Given the description of an element on the screen output the (x, y) to click on. 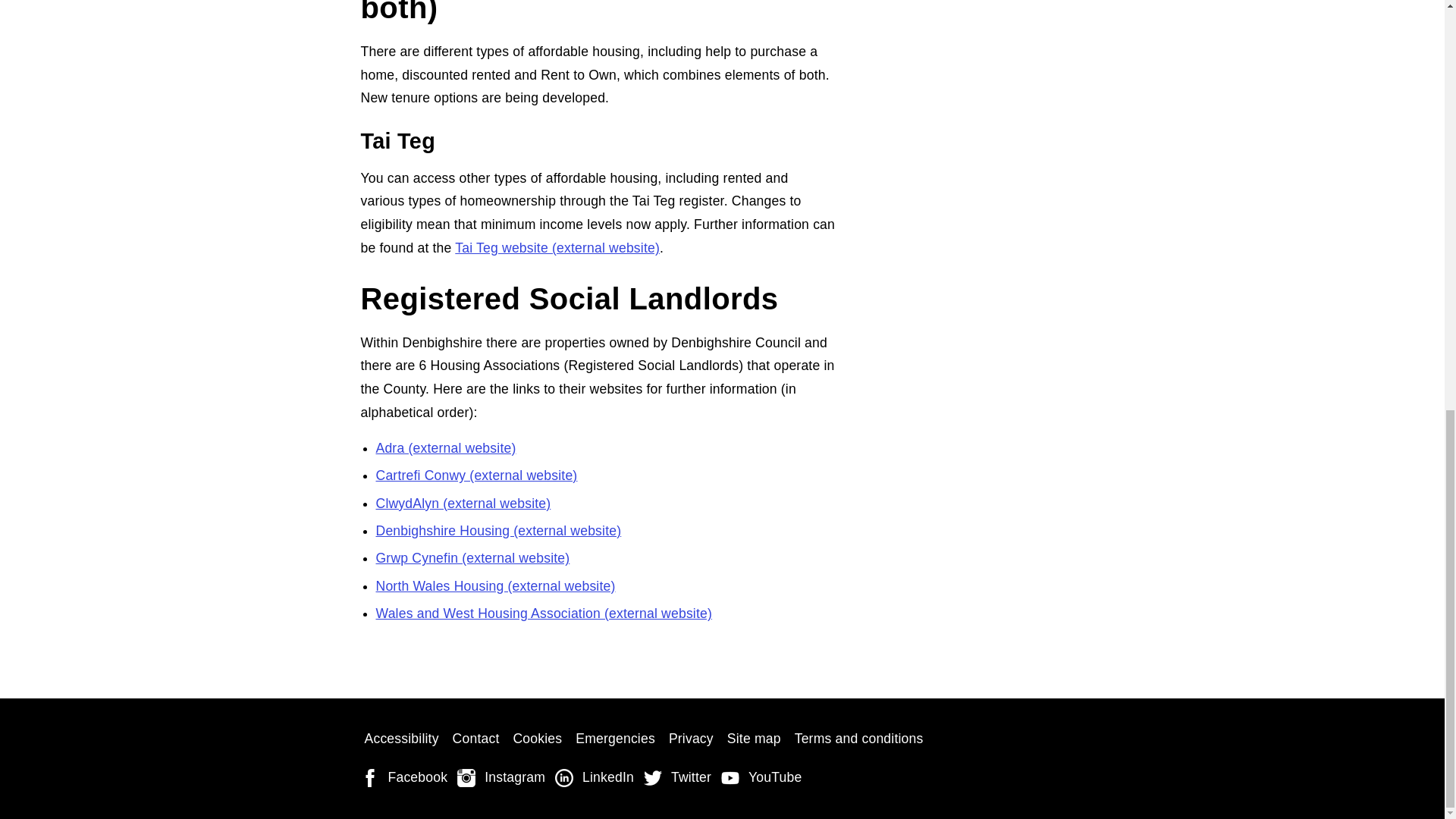
YouTube (762, 777)
LinkedIn (595, 777)
Accessibility (401, 739)
Cookies (537, 739)
Contact (475, 739)
Privacy (691, 739)
Terms and conditions (858, 739)
Facebook (406, 777)
Site map (753, 739)
Instagram (502, 777)
Emergencies (615, 739)
Twitter (678, 777)
